Given the description of an element on the screen output the (x, y) to click on. 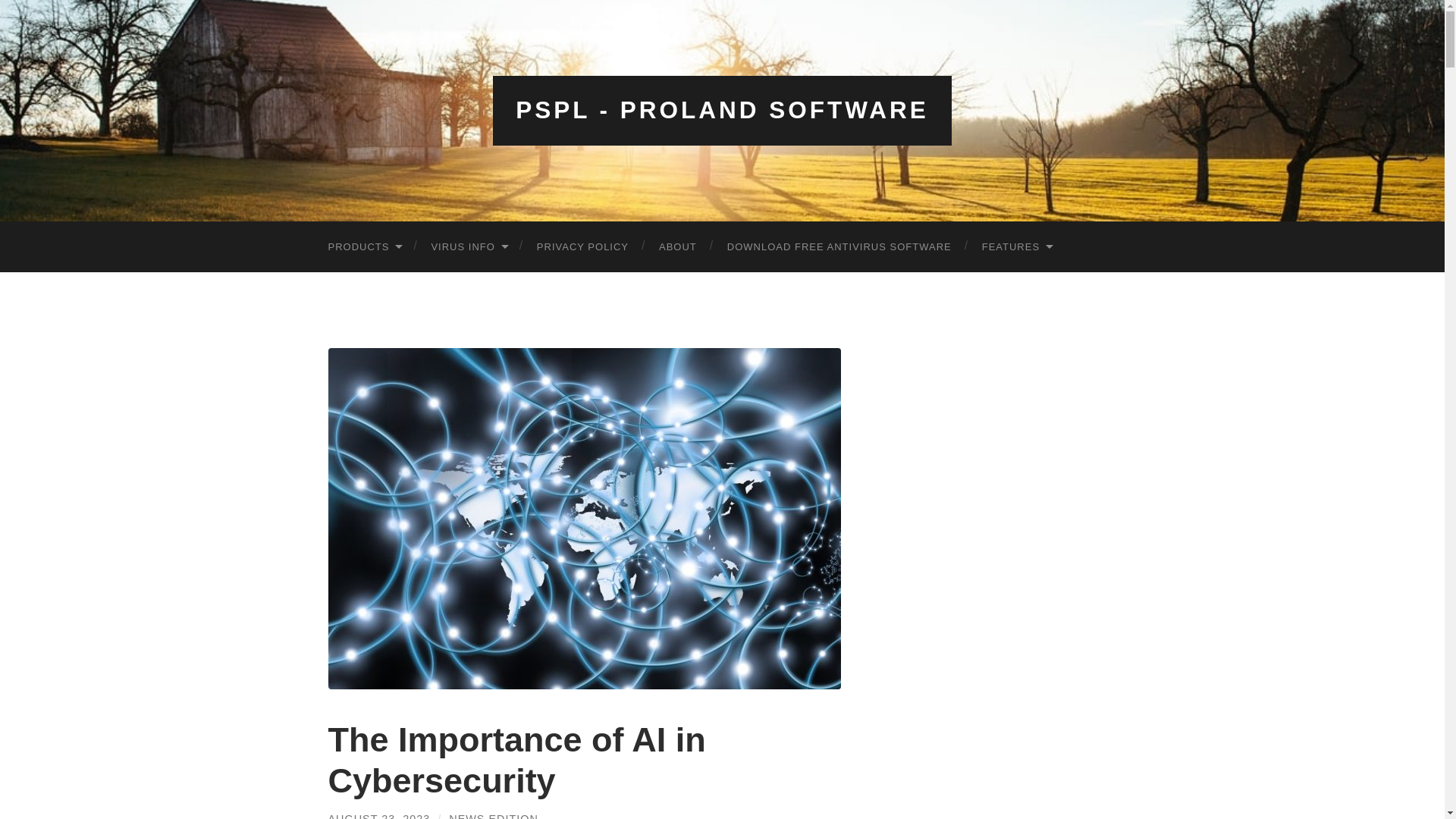
PSPL - PROLAND SOFTWARE (721, 109)
PRIVACY POLICY (582, 246)
VIRUS INFO (467, 246)
Posts by News Edition (493, 816)
PRODUCTS (363, 246)
DOWNLOAD FREE ANTIVIRUS SOFTWARE (838, 246)
FEATURES (1015, 246)
ABOUT (677, 246)
